Given the description of an element on the screen output the (x, y) to click on. 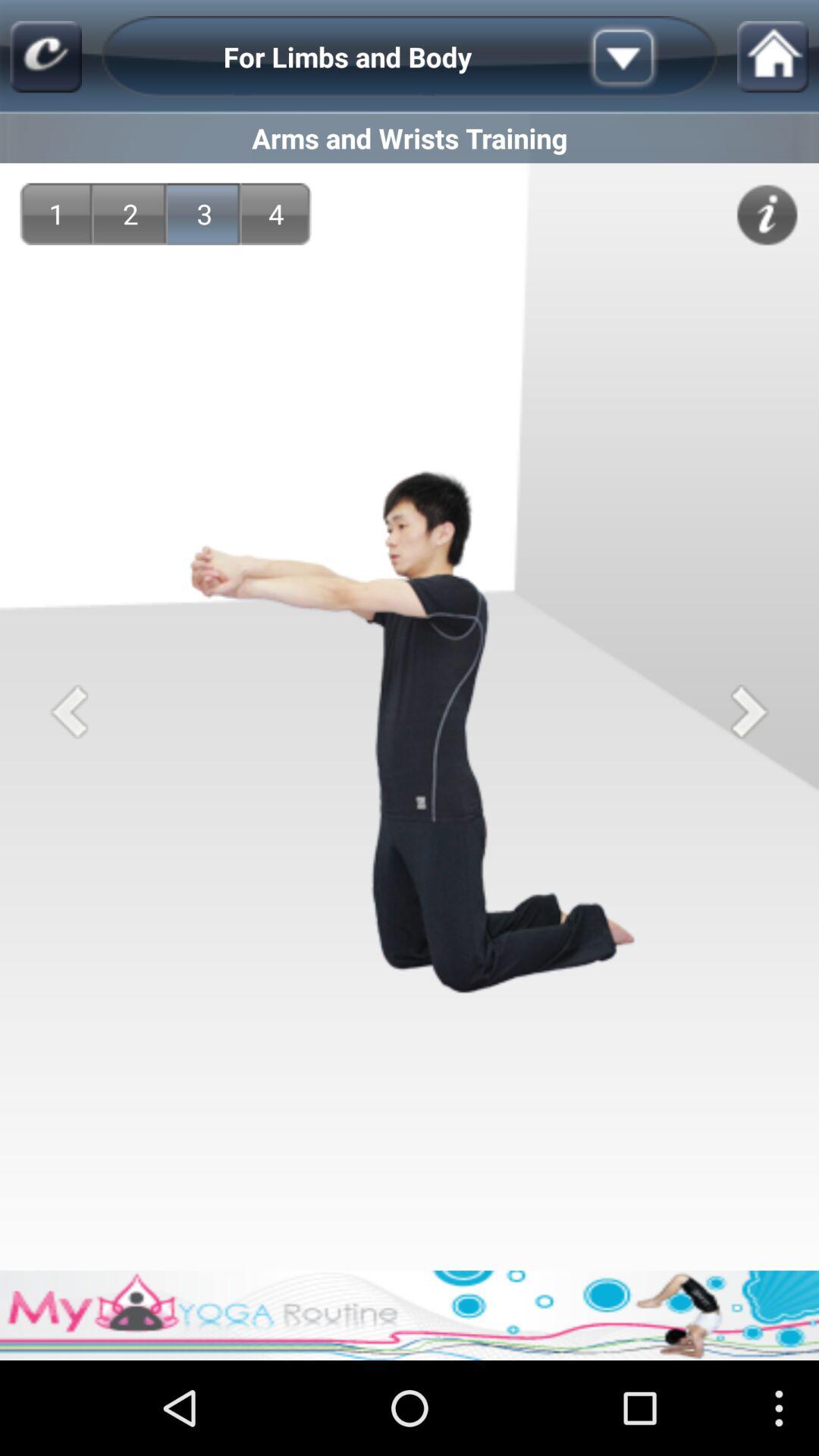
go to next (749, 711)
